Given the description of an element on the screen output the (x, y) to click on. 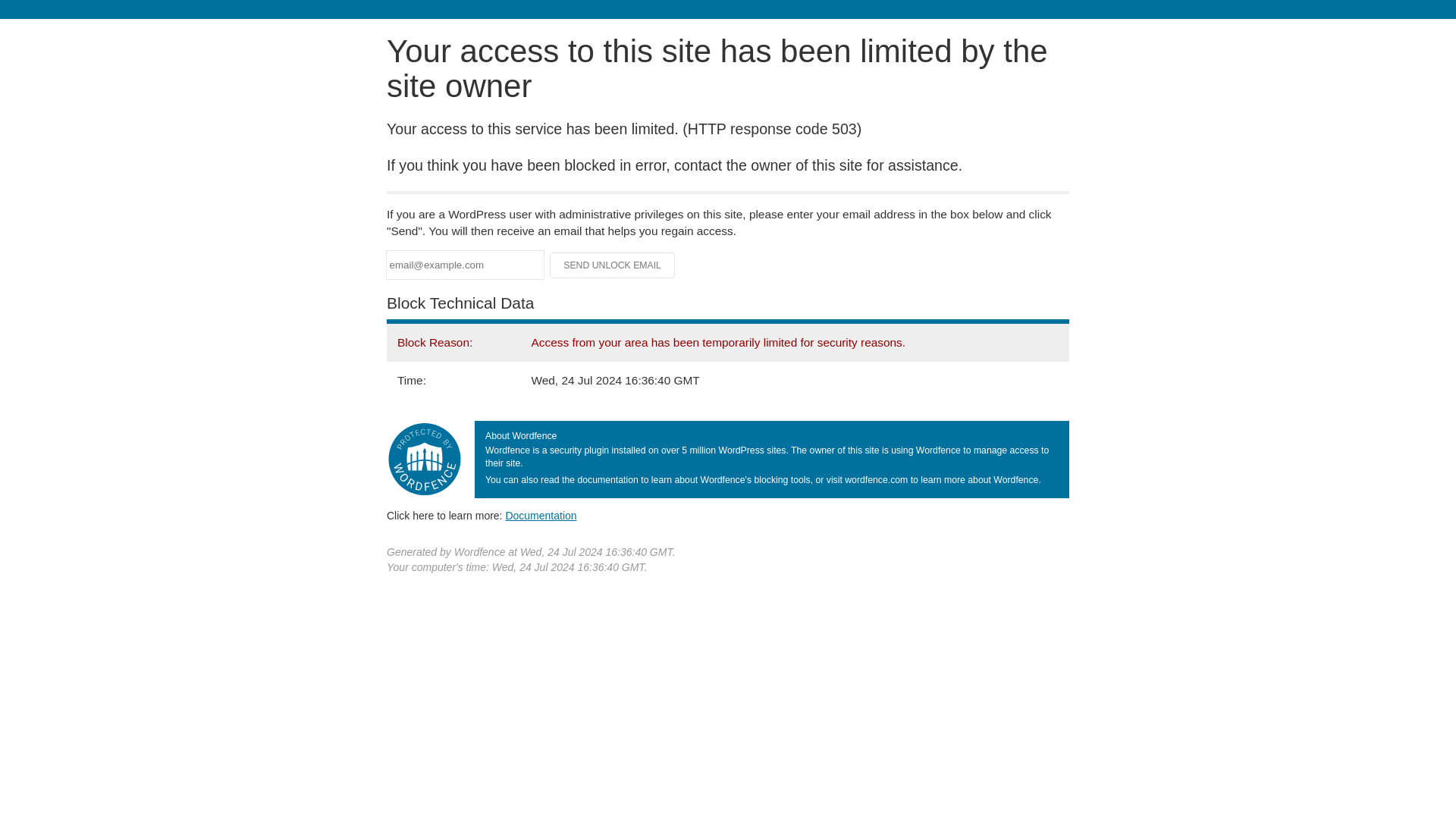
Documentation (540, 515)
Send Unlock Email (612, 265)
Send Unlock Email (612, 265)
